Given the description of an element on the screen output the (x, y) to click on. 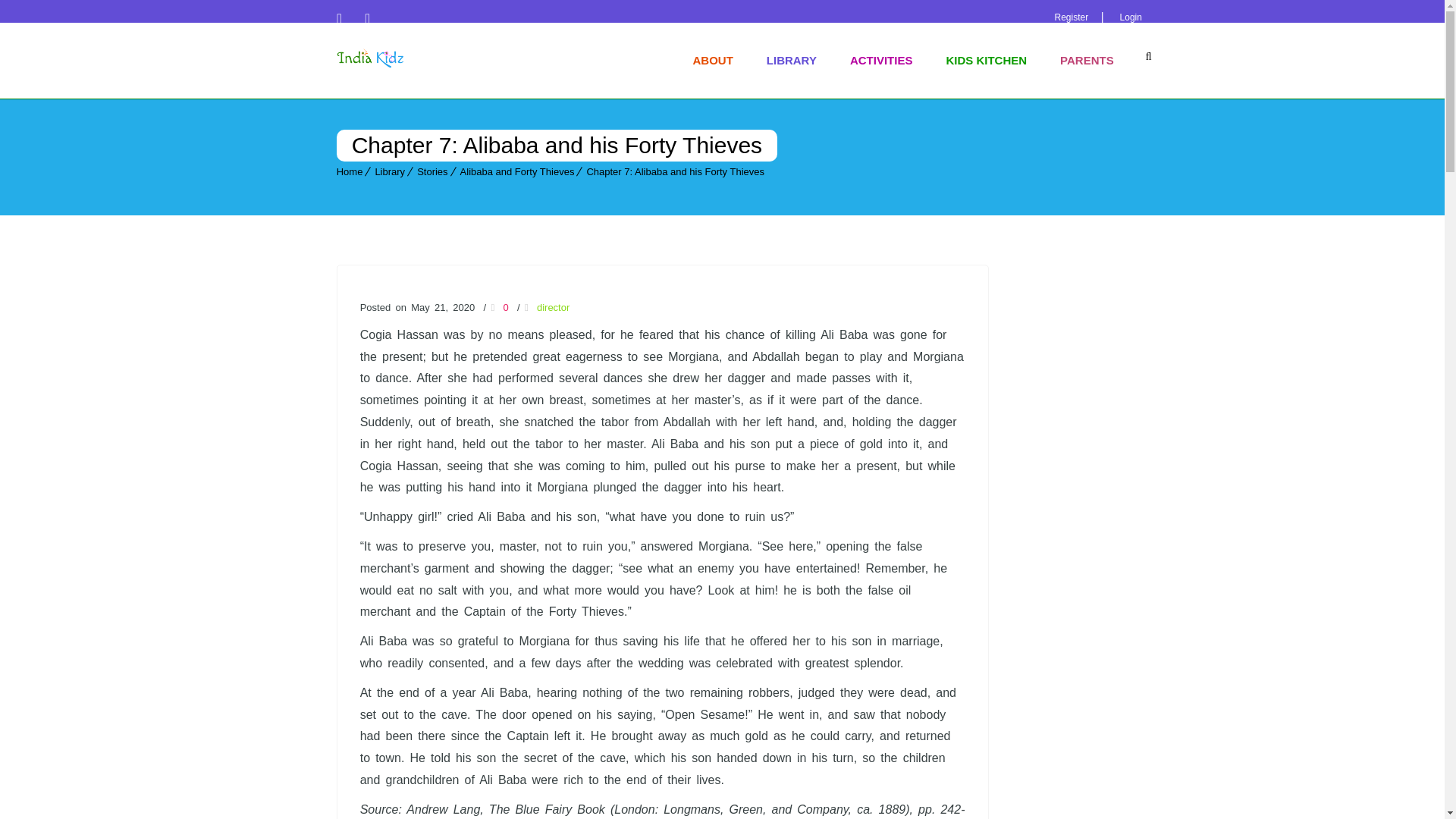
Chapter 7: Alibaba and his Forty Thieves (675, 171)
Home (349, 171)
Login (1130, 17)
ABOUT (712, 60)
director (553, 307)
PARENTS (1087, 60)
Register (1070, 17)
A complete portal for Indian Kids across the globe (370, 56)
KIDS KITCHEN (985, 60)
ACTIVITIES (881, 60)
LIBRARY (790, 60)
A complete portal for Indian Kids across the globe (370, 59)
View all posts by director (553, 307)
Stories (431, 171)
0 (499, 307)
